Given the description of an element on the screen output the (x, y) to click on. 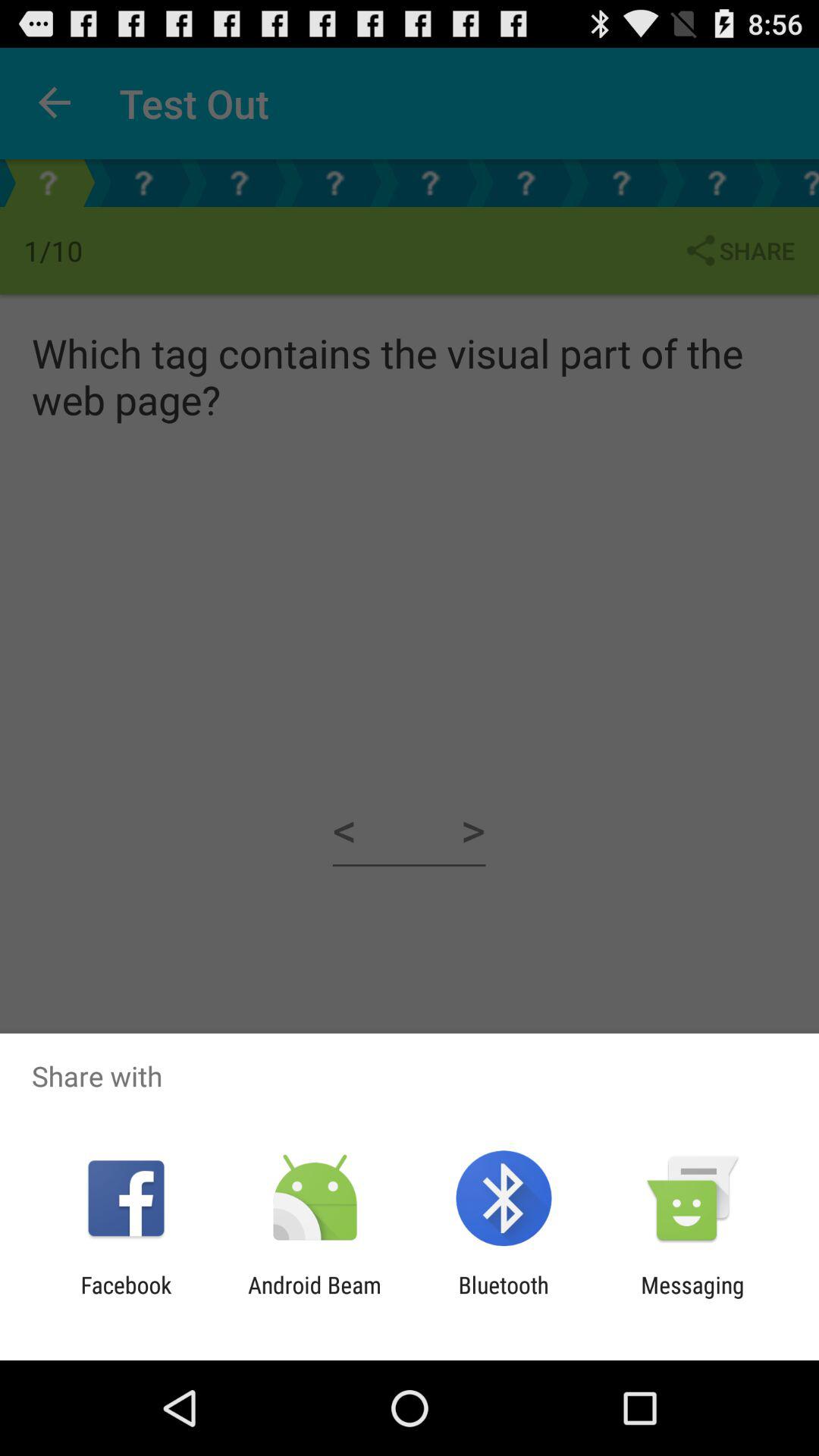
flip until android beam item (314, 1298)
